Given the description of an element on the screen output the (x, y) to click on. 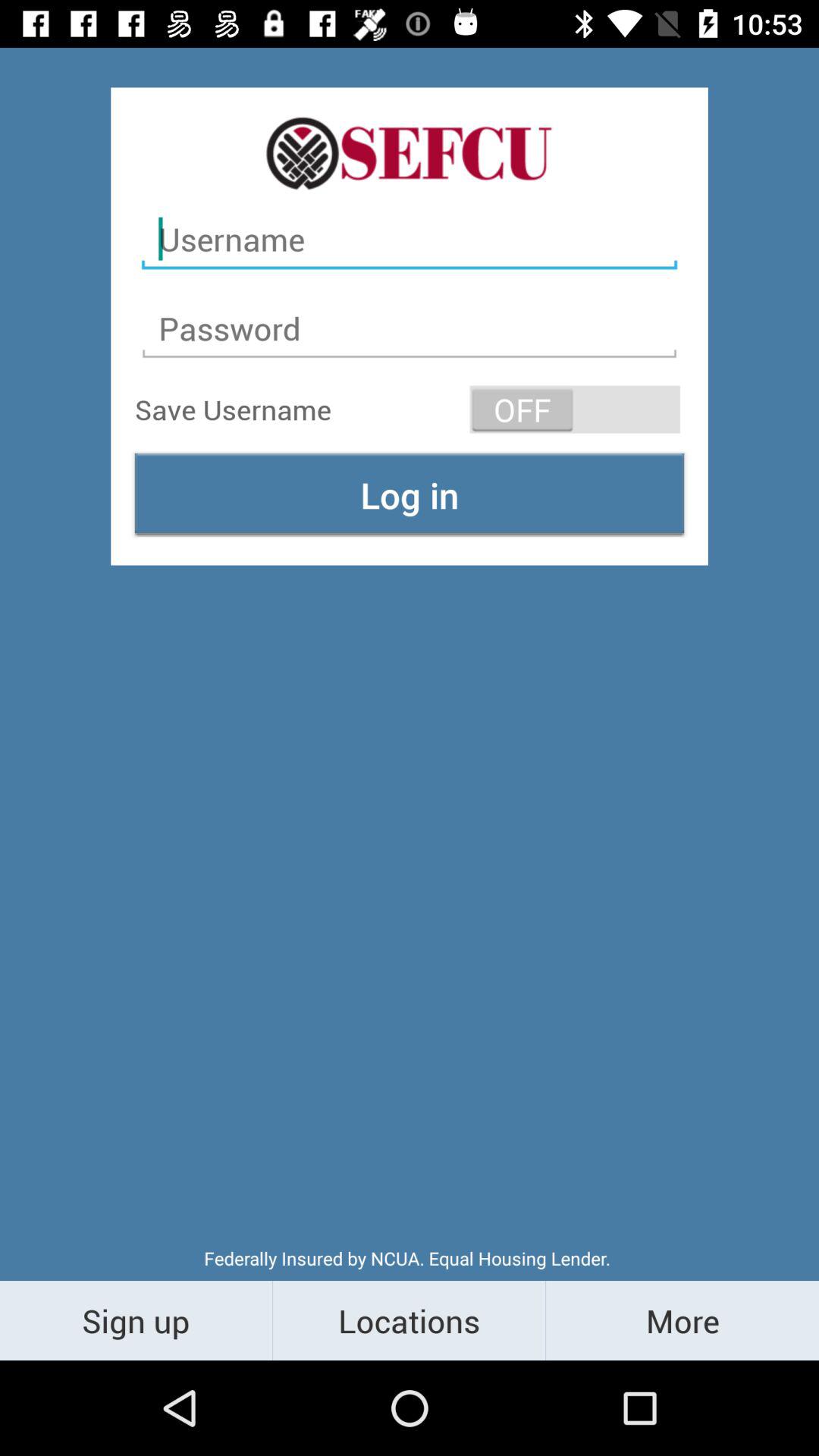
turn on icon to the right of the locations icon (682, 1320)
